Given the description of an element on the screen output the (x, y) to click on. 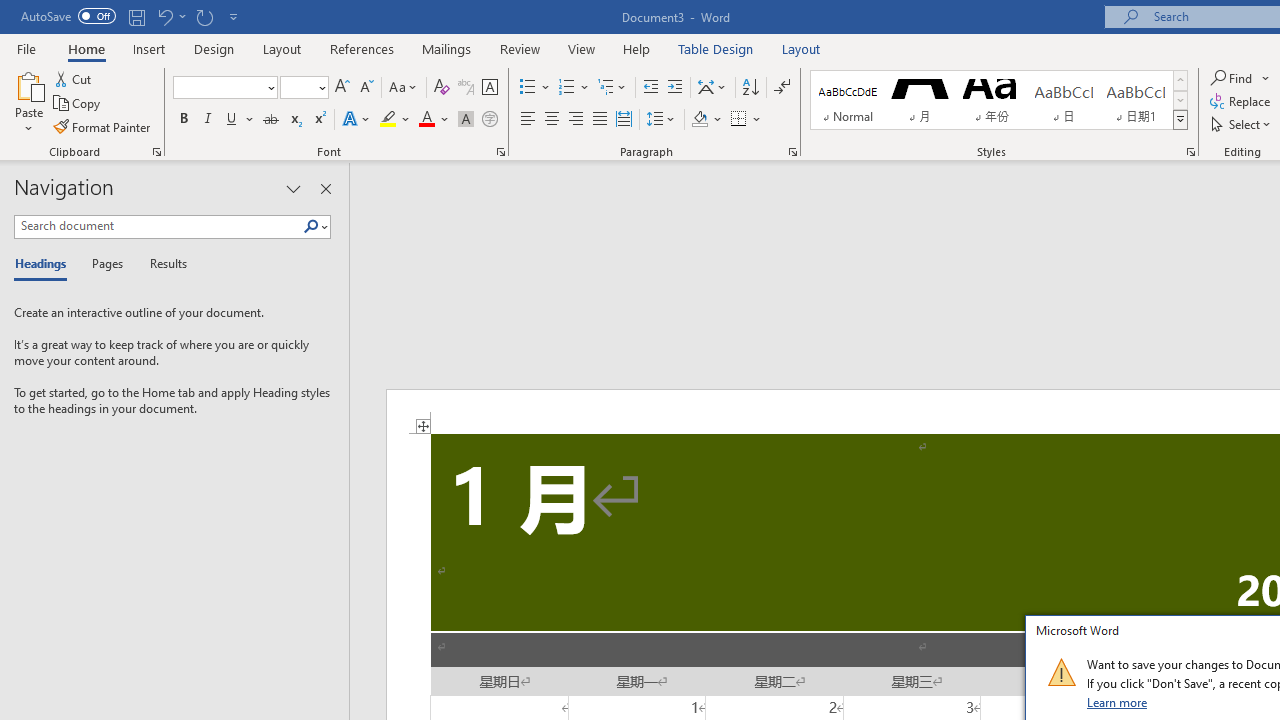
Undo Shrink Font (164, 15)
Learn more (1118, 702)
Font Color RGB(255, 0, 0) (426, 119)
Text Effects and Typography (357, 119)
Multilevel List (613, 87)
Row up (1179, 79)
Justify (599, 119)
Grow Font (342, 87)
Text Highlight Color Yellow (388, 119)
Row Down (1179, 100)
